Given the description of an element on the screen output the (x, y) to click on. 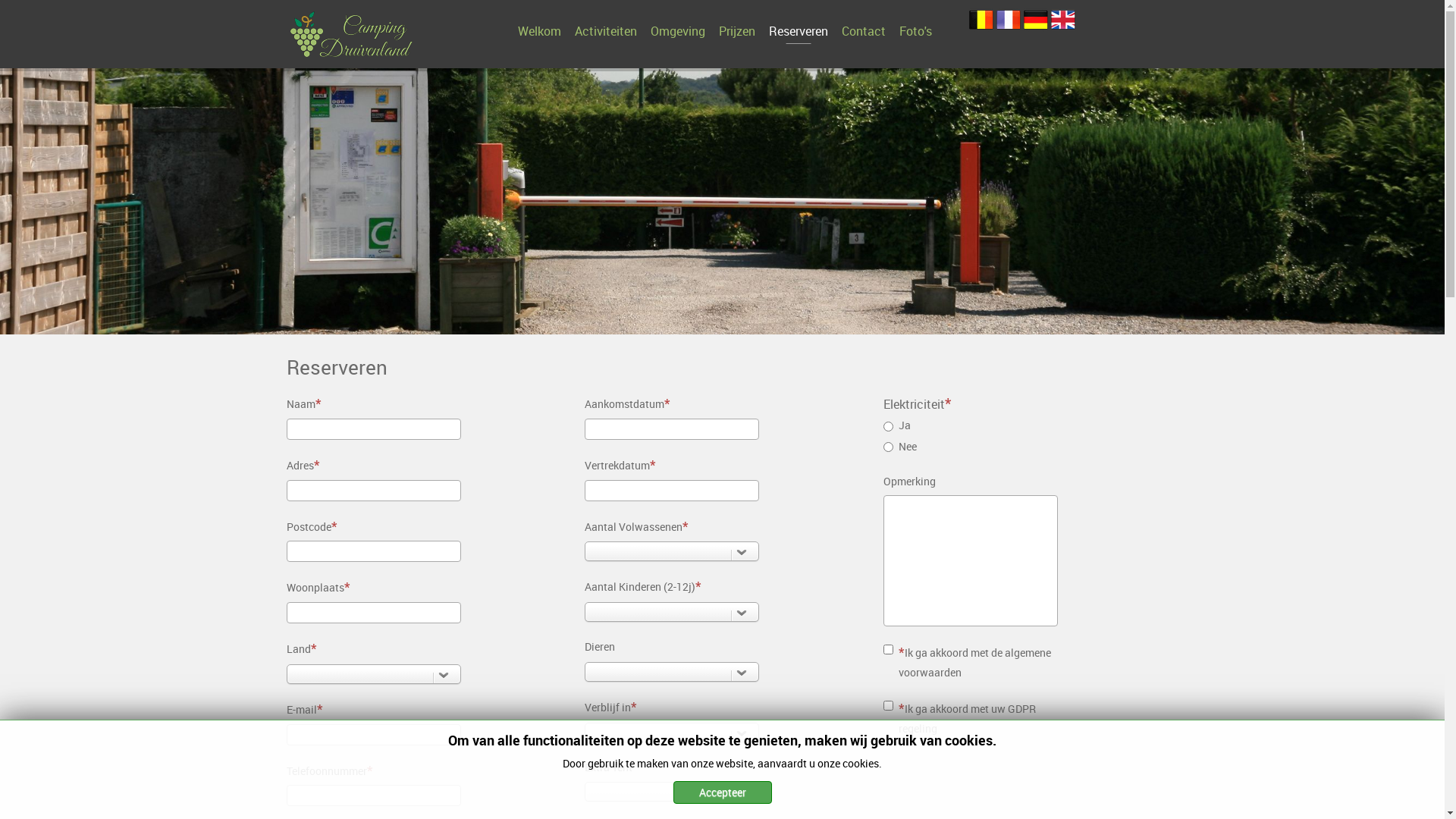
English Element type: hover (1063, 19)
Welkom Element type: text (538, 30)
reCAPTCHA Element type: hover (998, 783)
Reserveren Element type: text (798, 30)
Contact Element type: text (863, 30)
Deutsch Element type: hover (1035, 19)
Omgeving Element type: text (677, 30)
Prijzen Element type: text (736, 30)
Activiteiten Element type: text (605, 30)
Nederlands Element type: hover (981, 19)
Foto's Element type: text (915, 30)
